Given the description of an element on the screen output the (x, y) to click on. 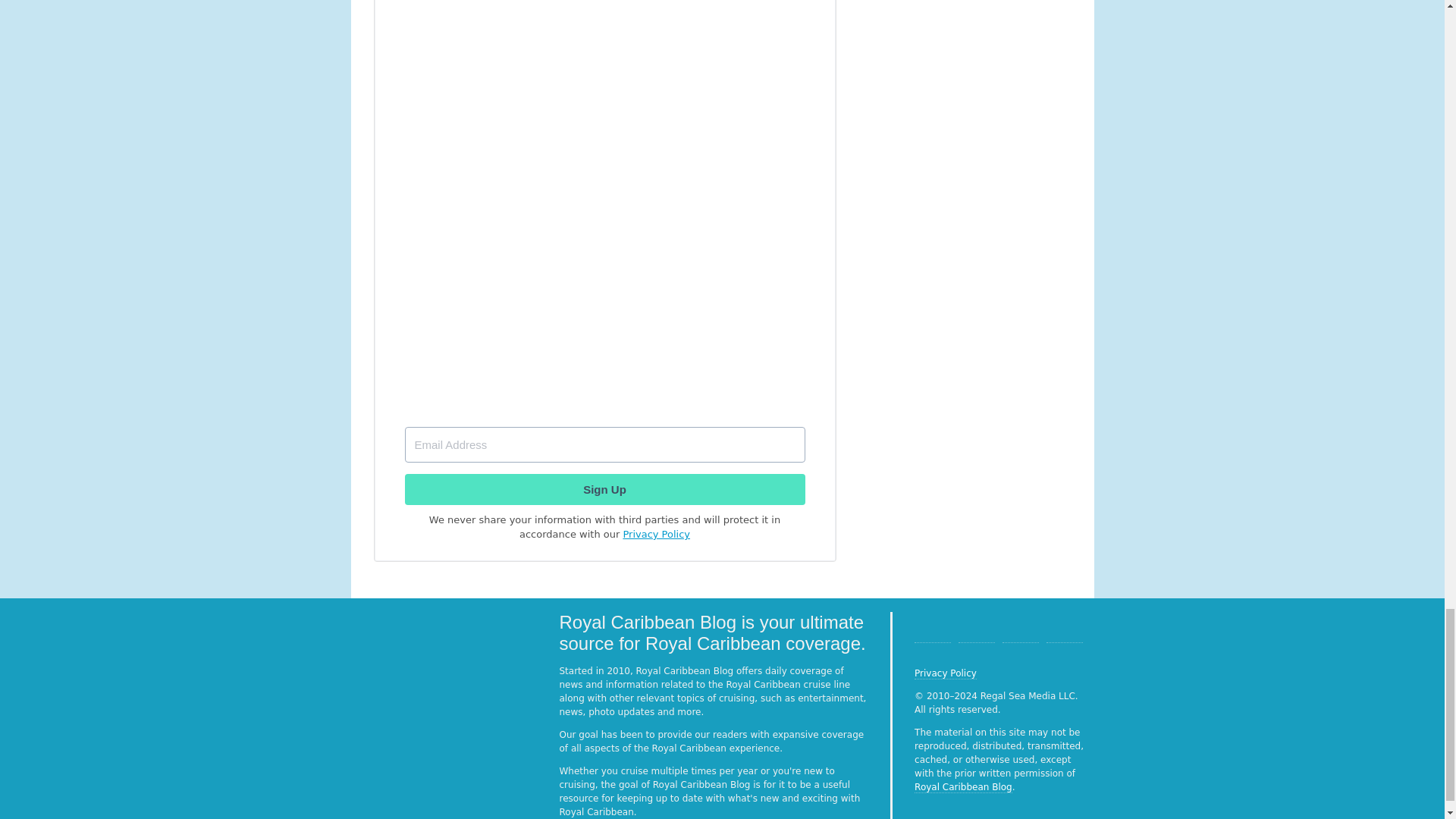
Sign Up (604, 489)
Privacy Policy (945, 673)
Royal Caribbean Blog (962, 787)
Privacy Policy (656, 533)
